Given the description of an element on the screen output the (x, y) to click on. 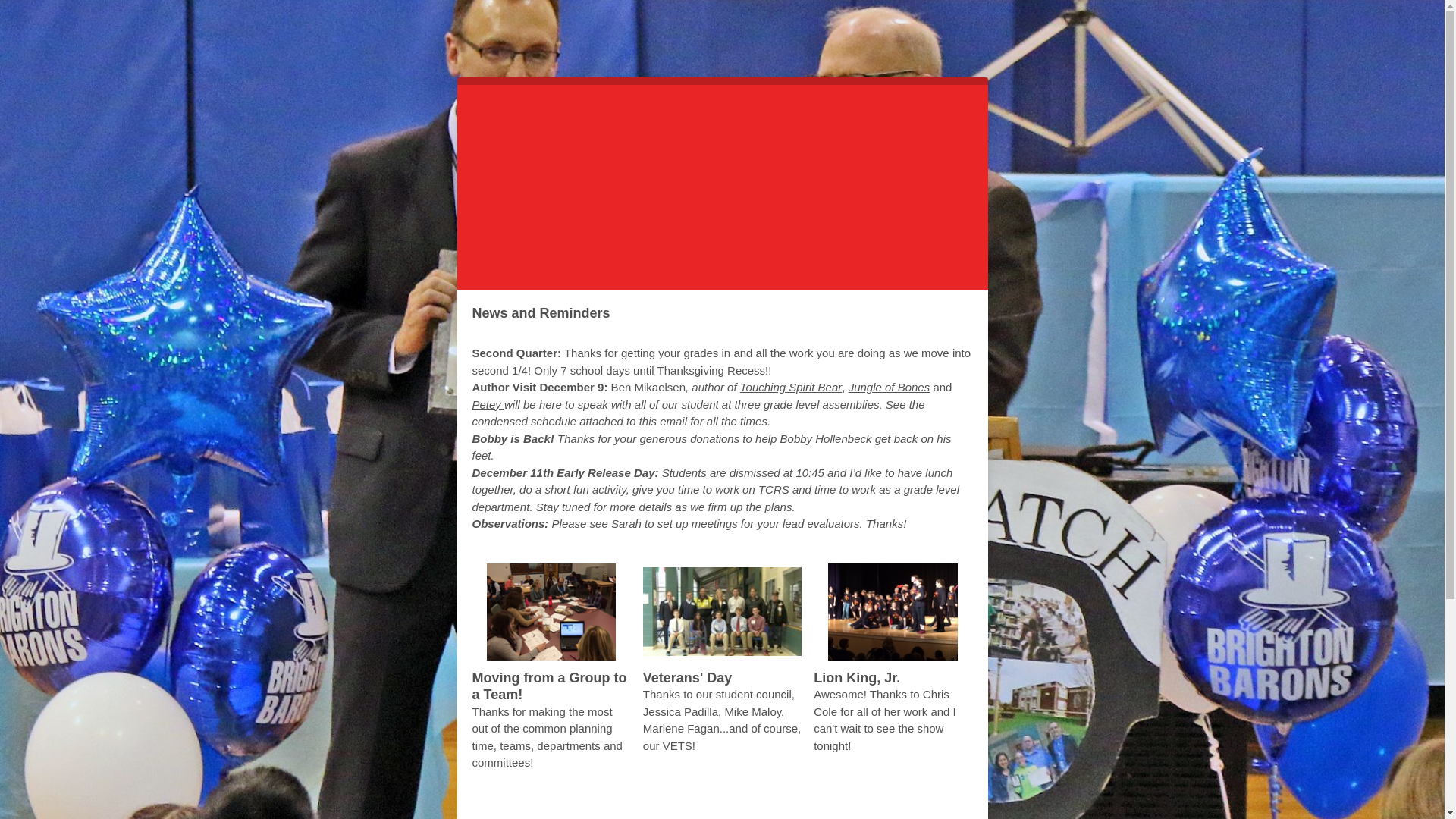
in (791, 810)
The (628, 810)
Answer: (567, 810)
first (722, 182)
building (664, 810)
Trivia (881, 810)
was (500, 810)
this (946, 810)
prirncipal (821, 810)
